Given the description of an element on the screen output the (x, y) to click on. 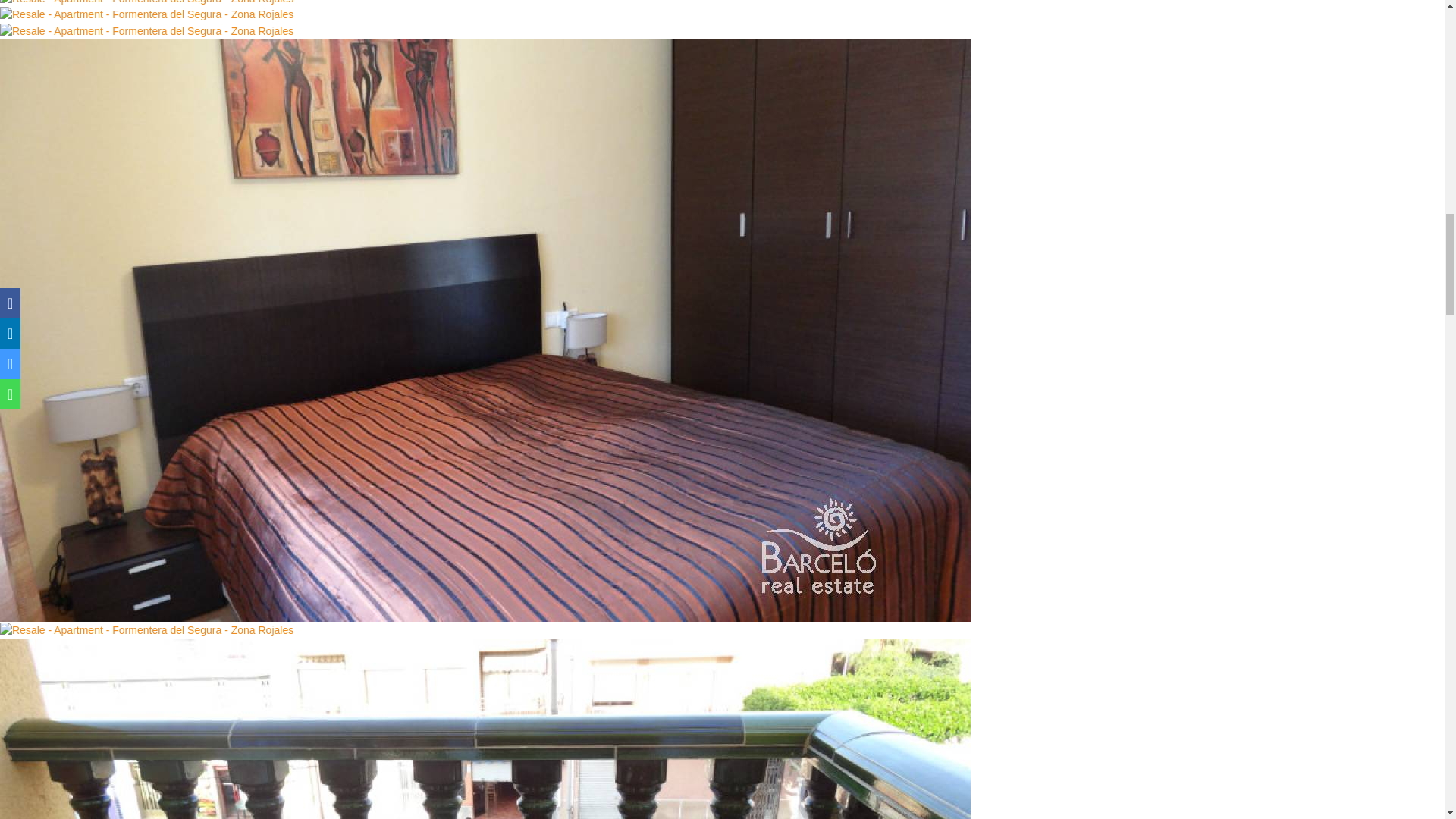
Resale - Apartment - Formentera del Segura - Zona Rojales (147, 14)
Resale - Apartment - Formentera del Segura - Zona Rojales (147, 630)
Resale - Apartment - Formentera del Segura - Zona Rojales (147, 3)
Resale - Apartment - Formentera del Segura - Zona Rojales (147, 31)
